Given the description of an element on the screen output the (x, y) to click on. 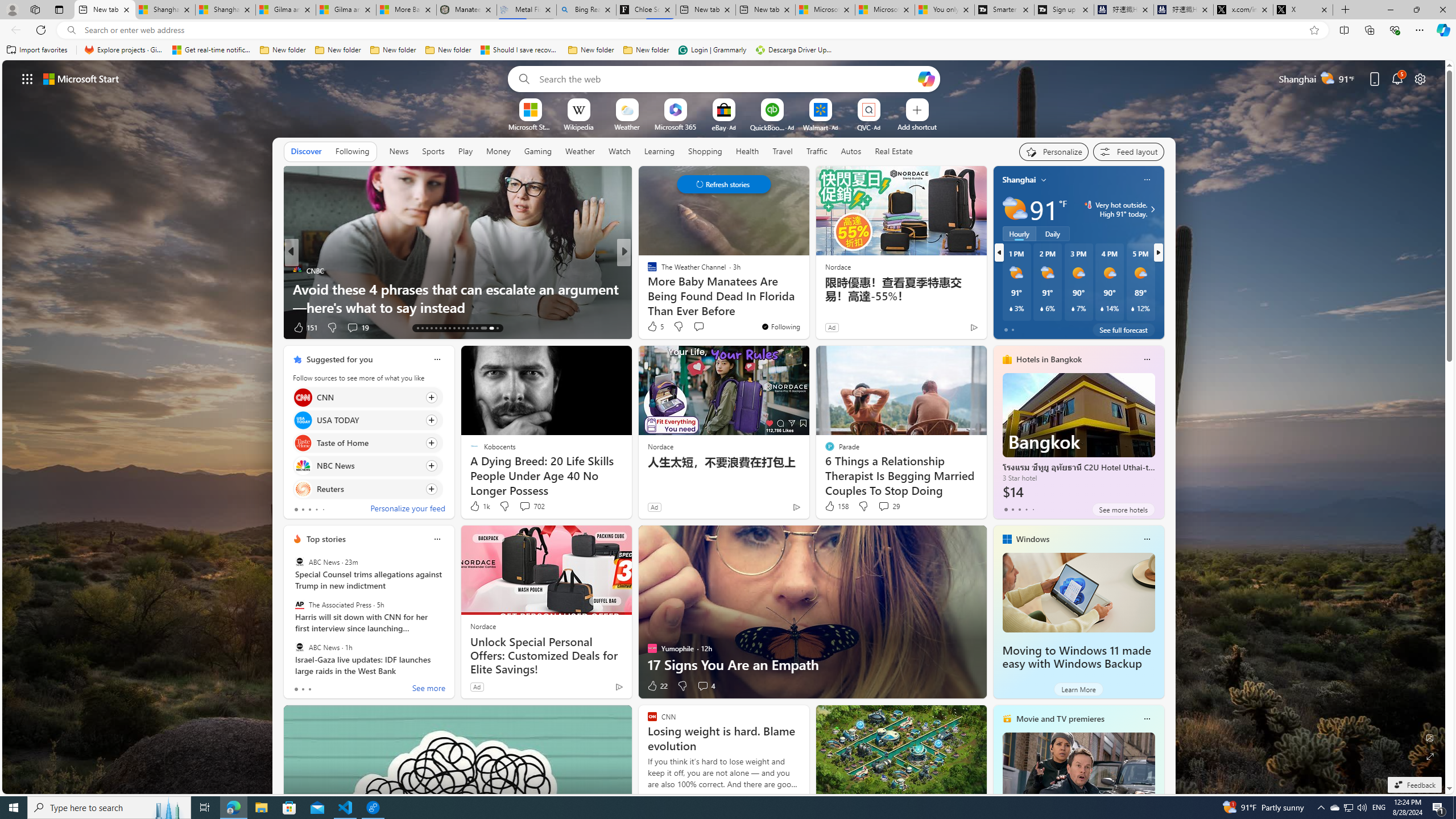
Manatee Mortality Statistics | FWC (466, 9)
View comments 42 Comment (6, 327)
Learning (658, 151)
Hide this story (597, 359)
Expand background (1430, 756)
View comments 19 Comment (352, 327)
You're following The Weather Channel (780, 326)
Should I save recovered Word documents? - Microsoft Support (519, 49)
